Given the description of an element on the screen output the (x, y) to click on. 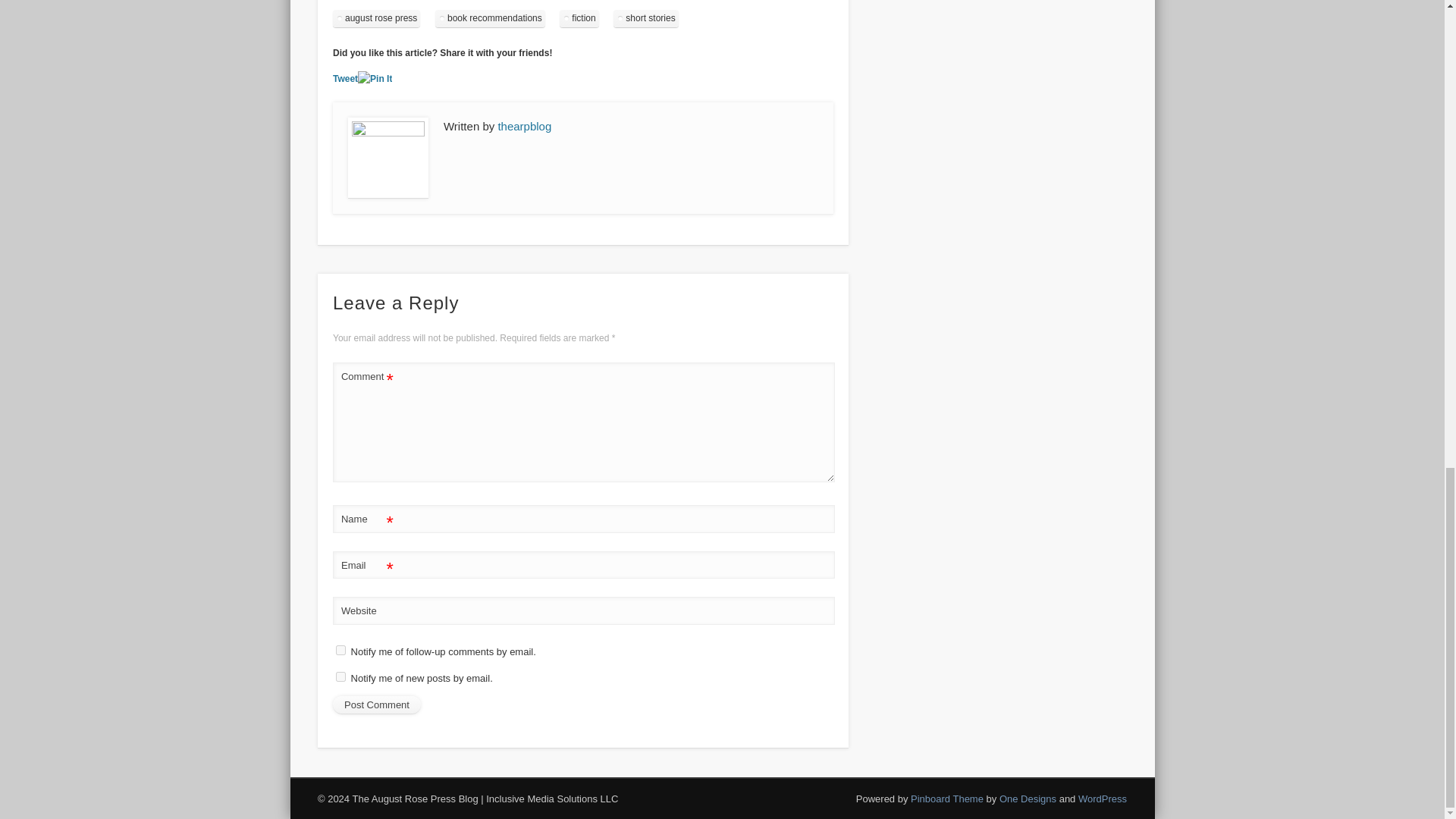
thearpblog (524, 125)
One Designs (1027, 798)
One Designs (1027, 798)
WordPress (1102, 798)
WordPress (1102, 798)
fiction (578, 18)
Tweet (345, 78)
august rose press (376, 18)
book recommendations (489, 18)
Post Comment (376, 705)
short stories (645, 18)
subscribe (341, 676)
subscribe (341, 650)
Posts by thearpblog (524, 125)
Pinboard Theme (947, 798)
